Given the description of an element on the screen output the (x, y) to click on. 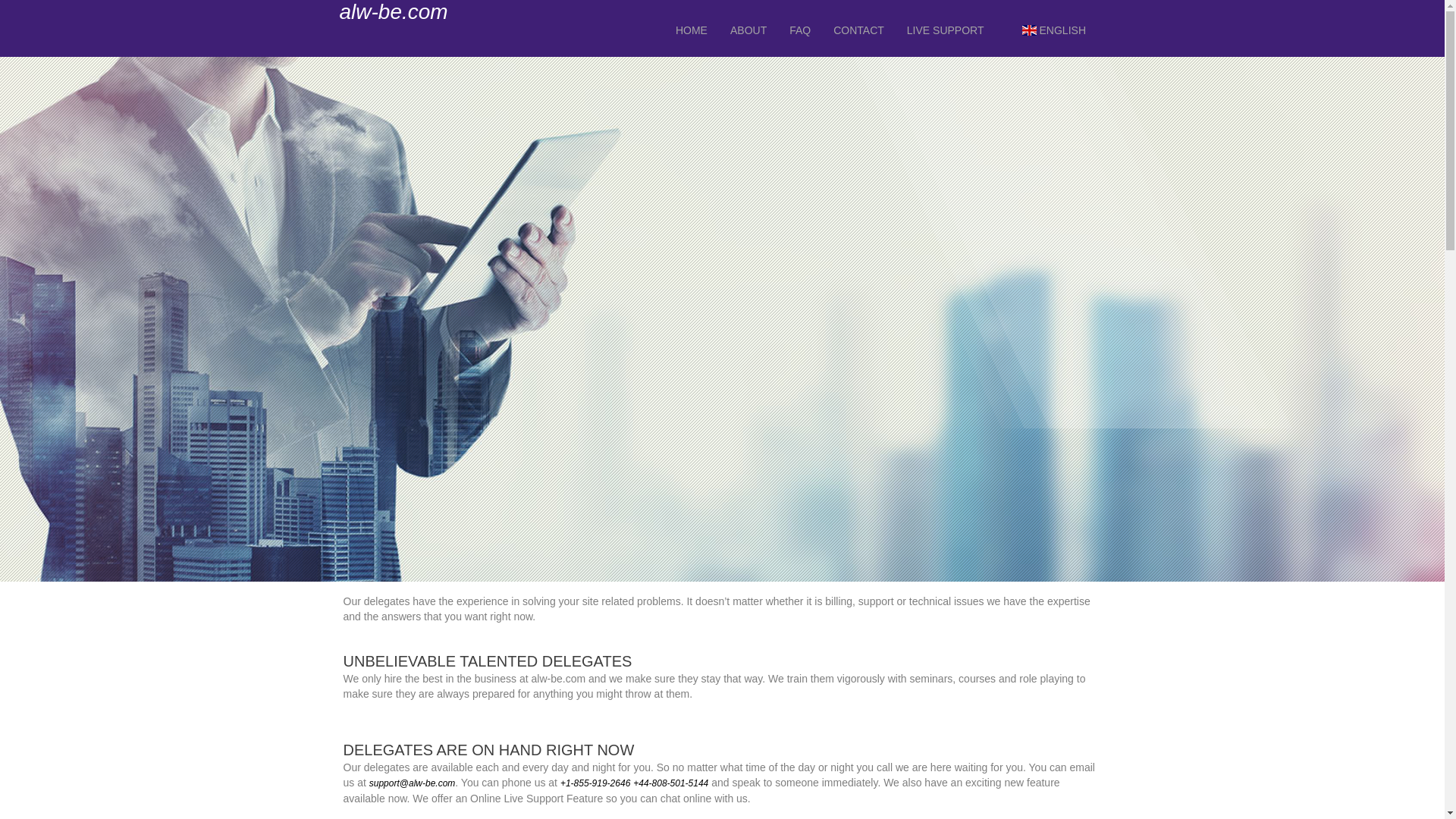
LIVE SUPPORT (945, 30)
ENGLISH (1054, 29)
